Given the description of an element on the screen output the (x, y) to click on. 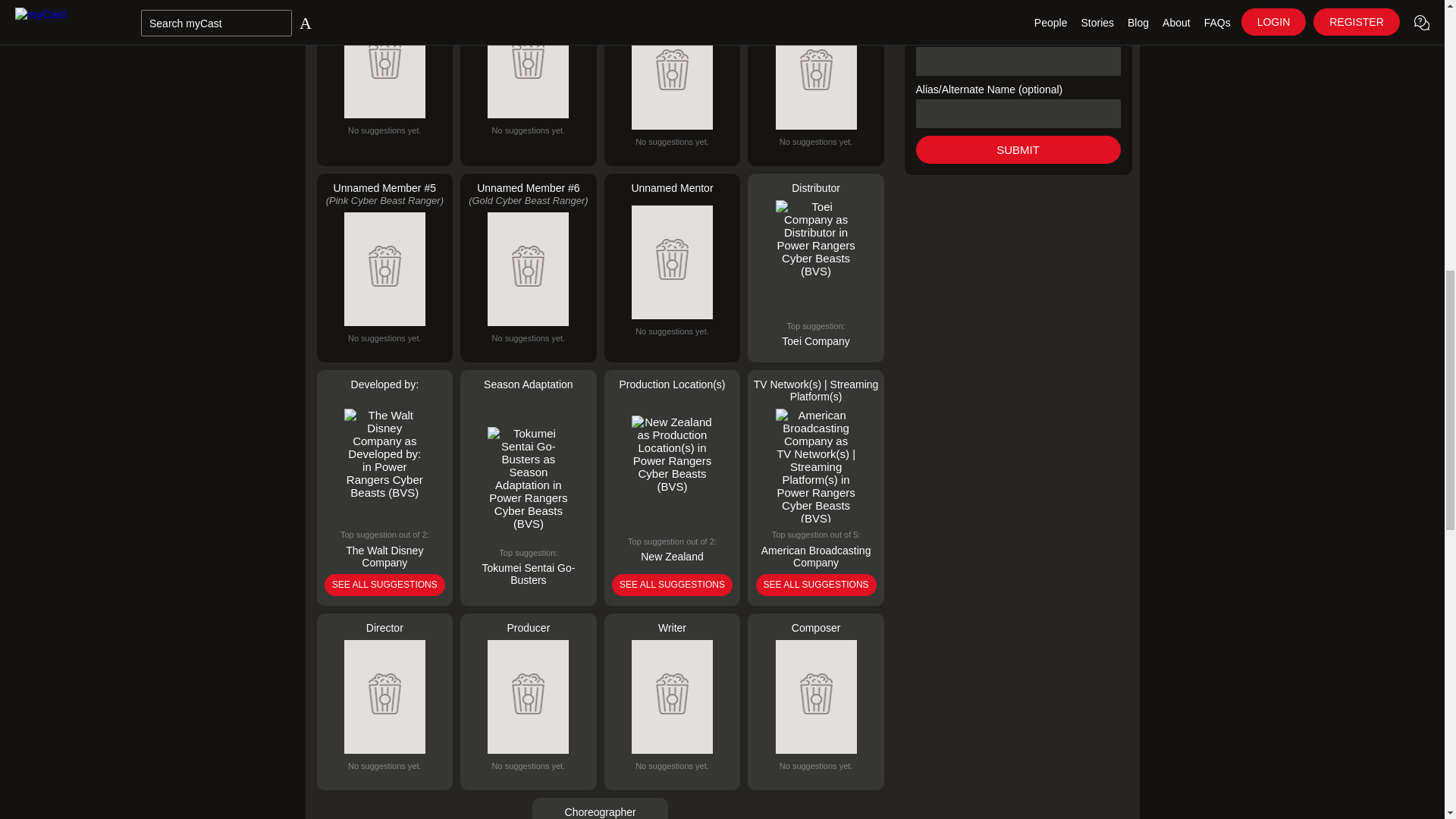
Season Adaptation (528, 487)
Producer (528, 701)
Choreographer (600, 808)
Developed by: (384, 487)
Distributor (815, 267)
Composer (815, 701)
Writer (672, 701)
Director (384, 701)
Unnamed Mentor (672, 267)
